Given the description of an element on the screen output the (x, y) to click on. 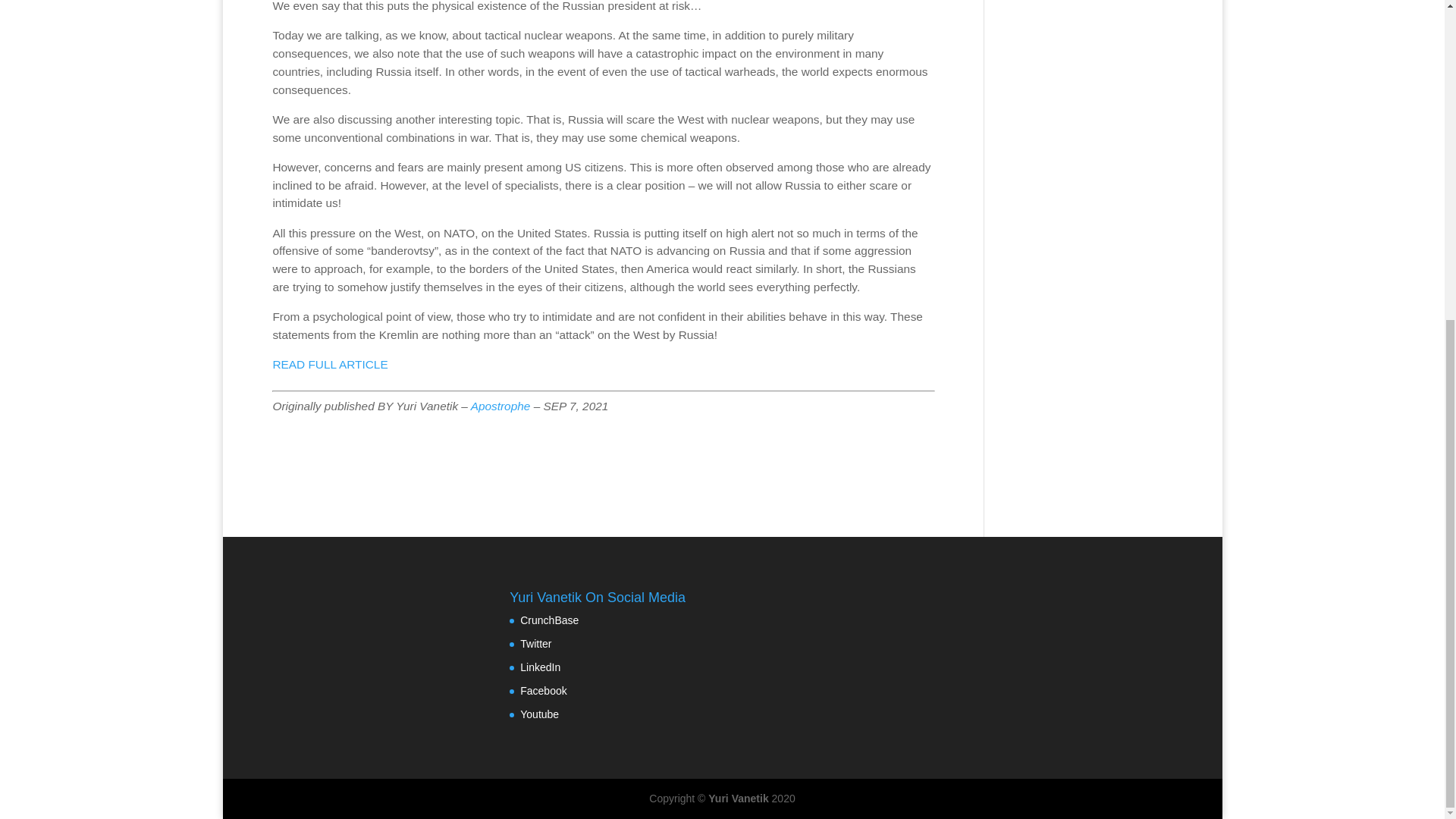
LinkedIn (539, 666)
Apostrophe (500, 405)
Twitter (535, 644)
READ FULL ARTICLE (329, 364)
Yuri Vanetik (737, 798)
Youtube (539, 714)
Facebook (542, 690)
CrunchBase (548, 620)
